Given the description of an element on the screen output the (x, y) to click on. 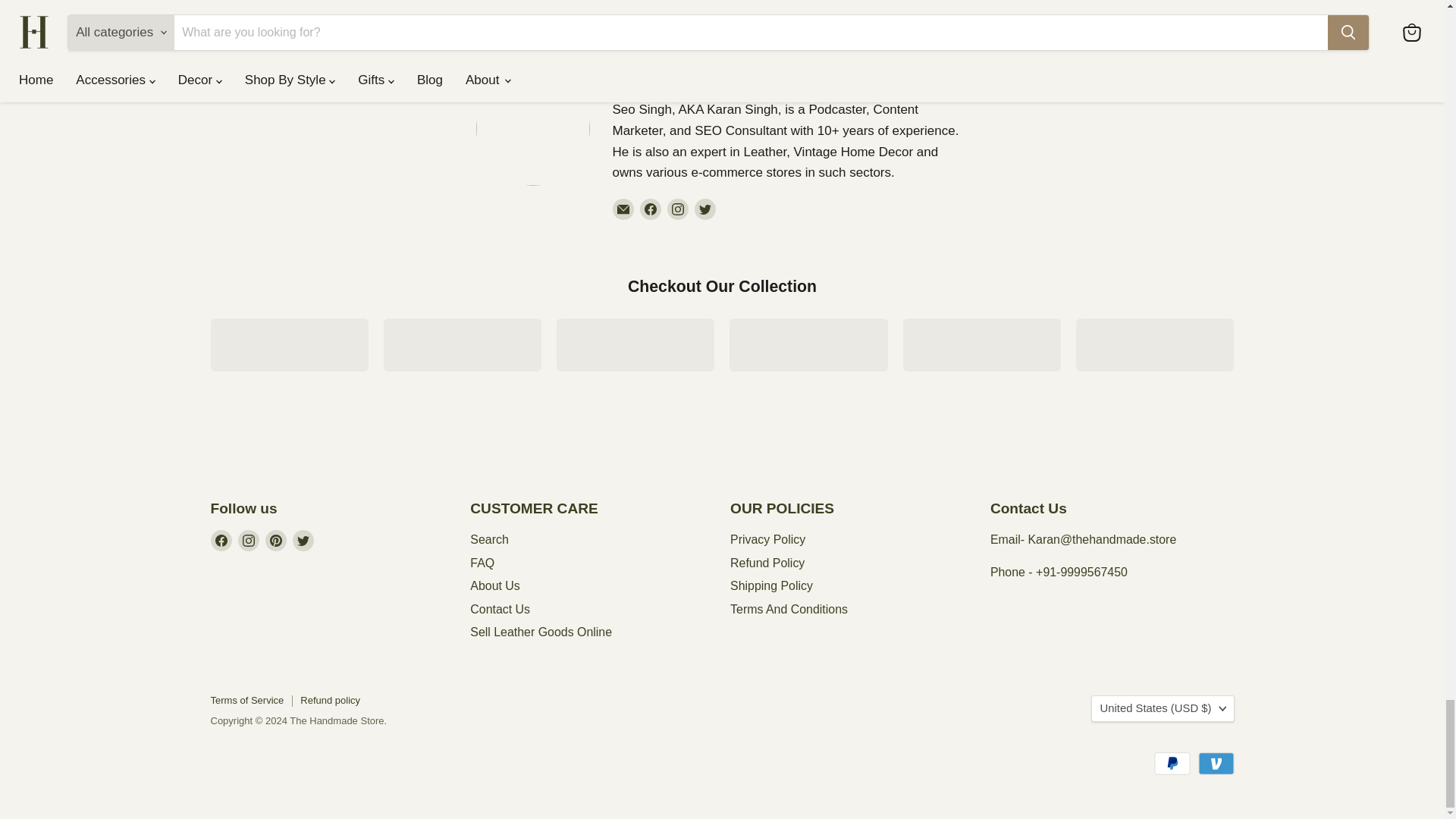
Facebook (221, 540)
Instagram (677, 209)
Facebook (650, 209)
Twitter (303, 540)
Email (622, 209)
Twitter (705, 209)
Pinterest (275, 540)
Instagram (248, 540)
